Given the description of an element on the screen output the (x, y) to click on. 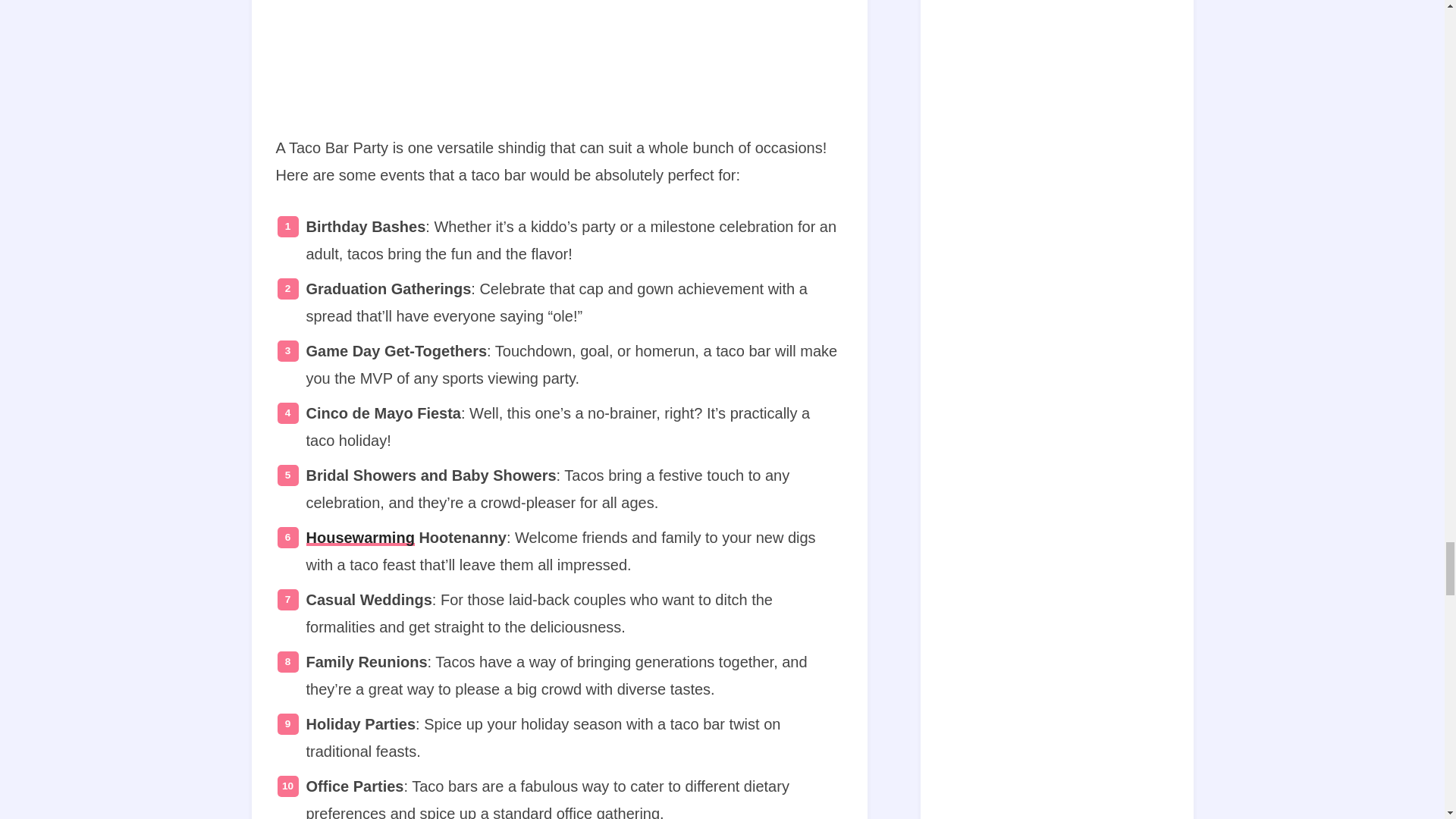
Housewarming (359, 537)
